Given the description of an element on the screen output the (x, y) to click on. 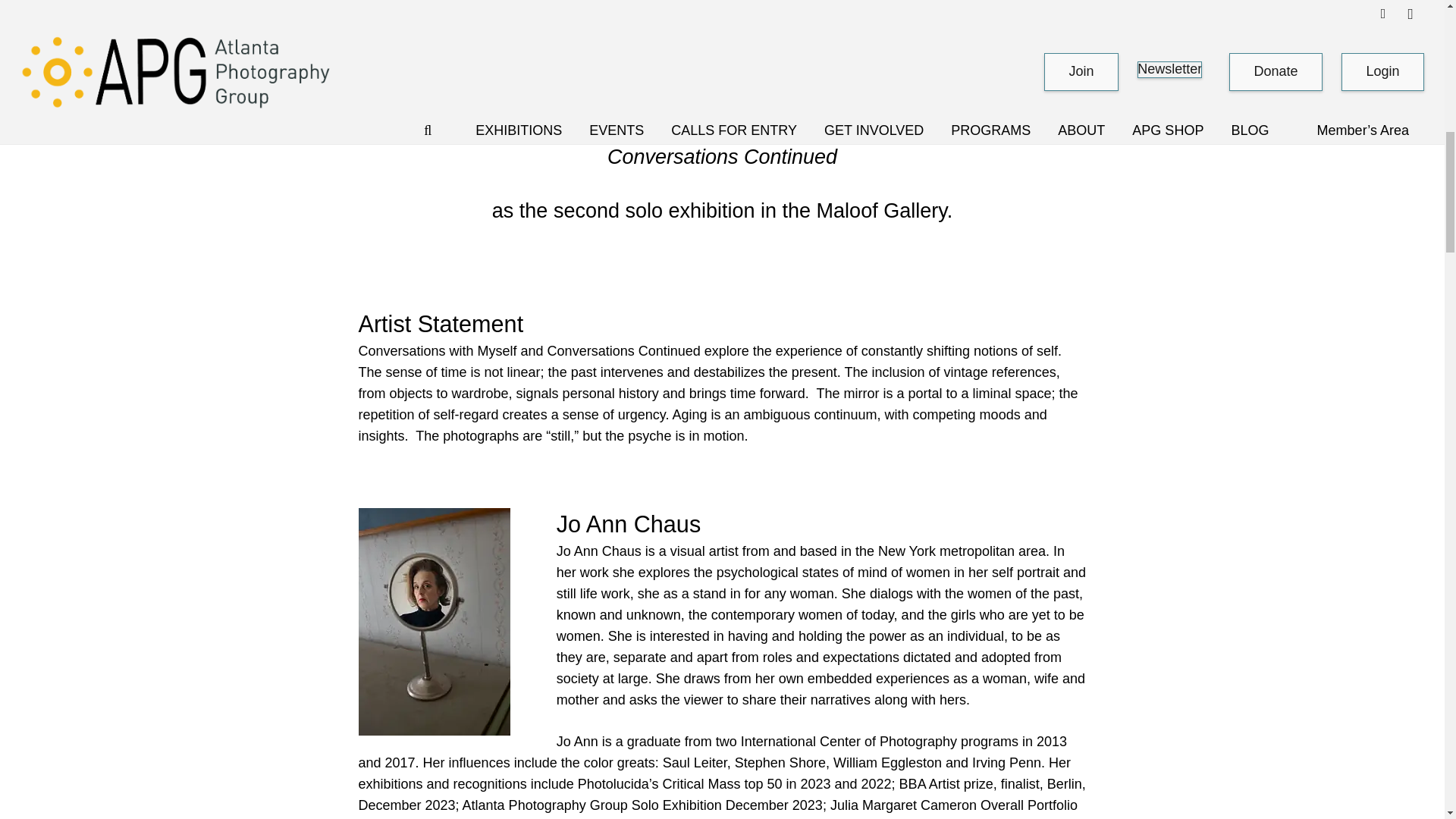
Back to top (1413, 26)
